Given the description of an element on the screen output the (x, y) to click on. 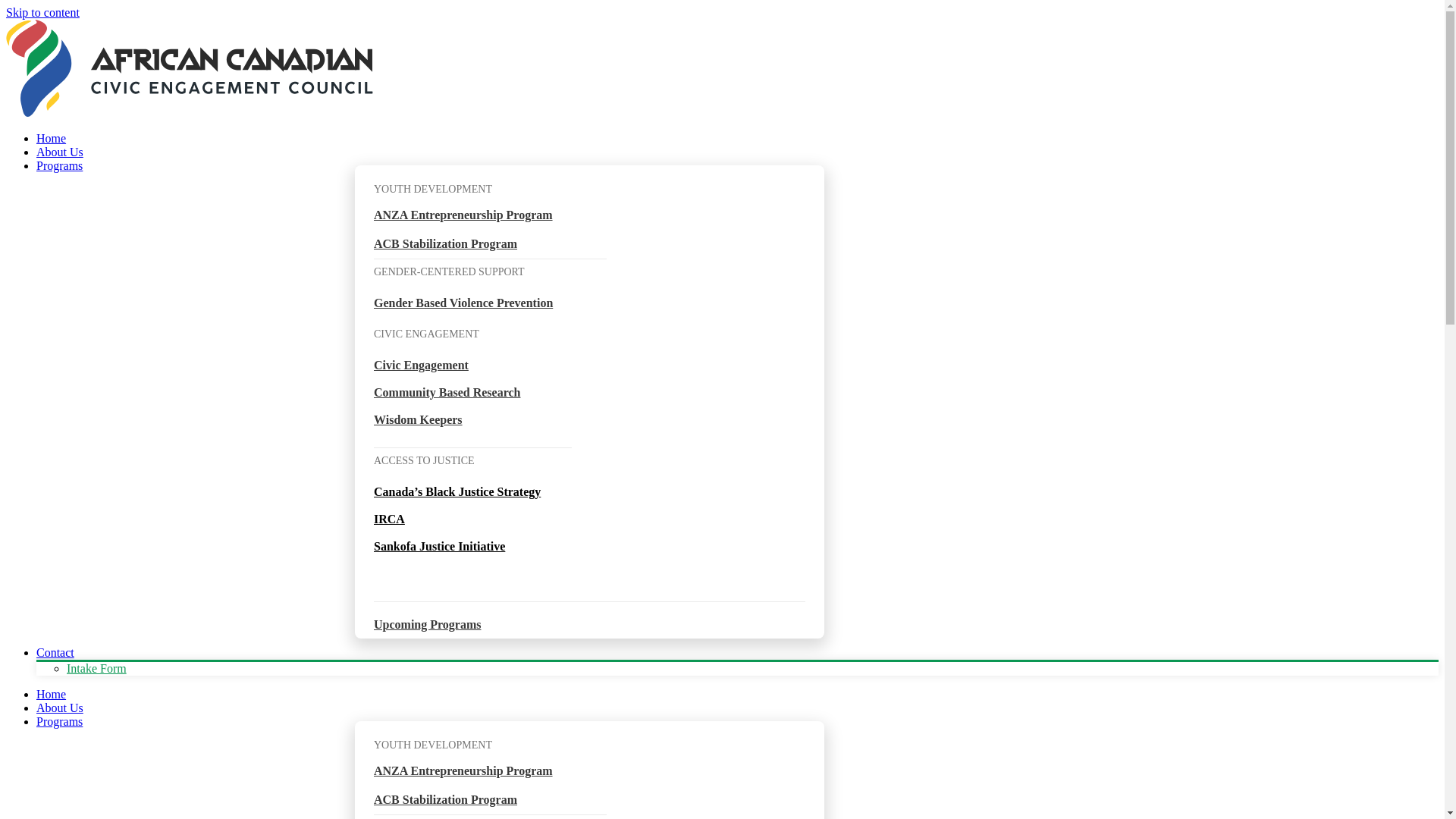
About Us Element type: text (59, 707)
Intake Form Element type: text (96, 668)
Civic Engagement Element type: text (420, 364)
Programs Element type: text (59, 165)
Community Based Research Element type: text (446, 391)
Contact Element type: text (55, 652)
Home Element type: text (50, 137)
Gender Based Violence Prevention Element type: text (462, 302)
Skip to content Element type: text (42, 12)
Upcoming Programs Element type: text (426, 624)
ANZA Entrepreneurship Program Element type: text (462, 770)
ACB Stabilization Program Element type: text (445, 799)
ACB Stabilization Program Element type: text (445, 243)
Home Element type: text (50, 693)
IRCA Element type: text (388, 518)
Sankofa Justice Initiative Element type: text (439, 545)
About Us Element type: text (59, 151)
Programs Element type: text (59, 721)
Wisdom Keepers Element type: text (417, 419)
ANZA Entrepreneurship Program Element type: text (462, 214)
